Given the description of an element on the screen output the (x, y) to click on. 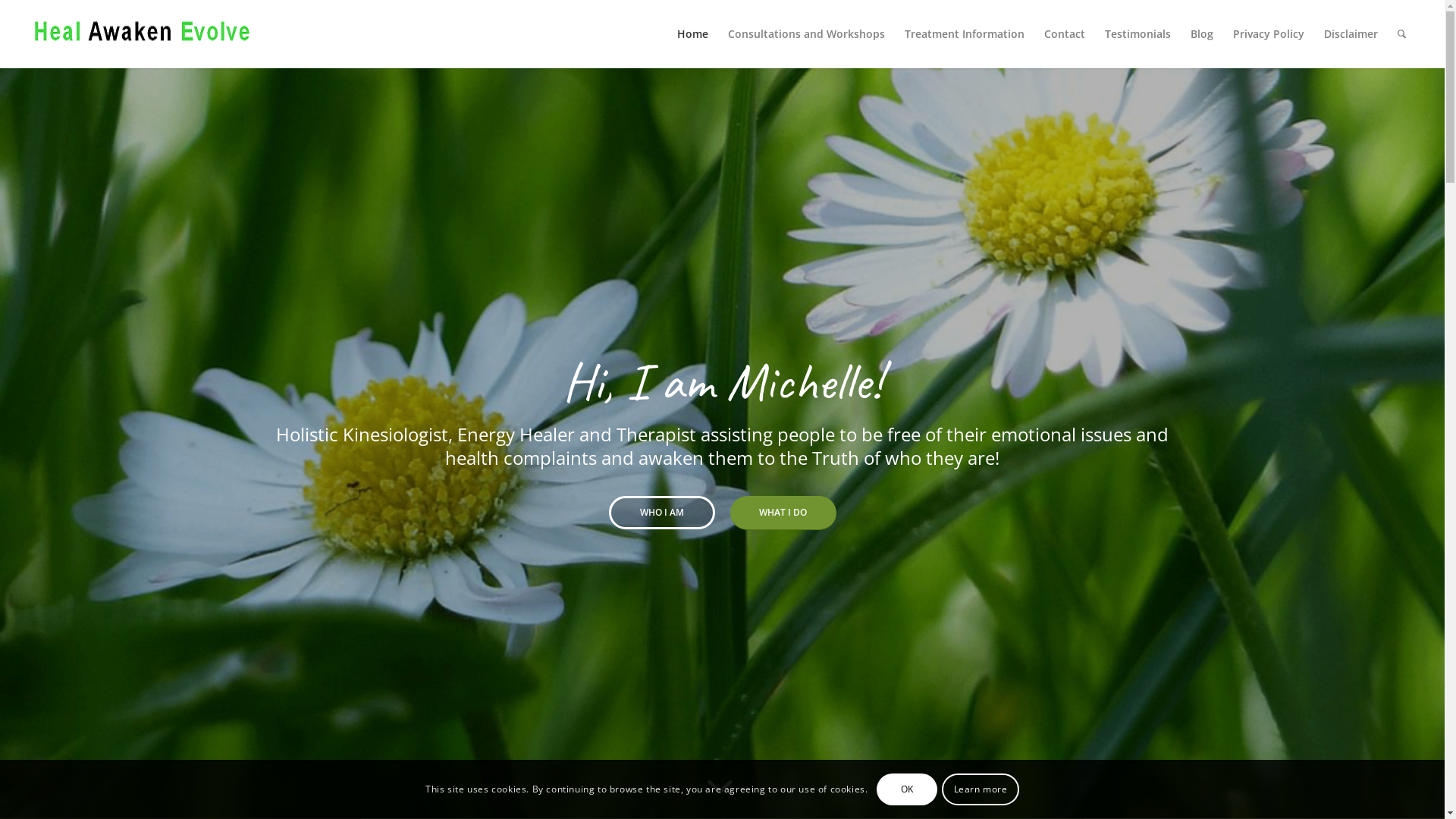
Home Element type: text (692, 34)
WHO I AM Element type: text (661, 512)
Blog Element type: text (1201, 34)
Contact Element type: text (1064, 34)
Disclaimer Element type: text (1350, 34)
Treatment Information Element type: text (964, 34)
WHAT I DO Element type: text (782, 512)
OK Element type: text (906, 789)
Testimonials Element type: text (1137, 34)
Learn more Element type: text (979, 789)
Privacy Policy Element type: text (1268, 34)
Consultations and Workshops Element type: text (806, 34)
